Given the description of an element on the screen output the (x, y) to click on. 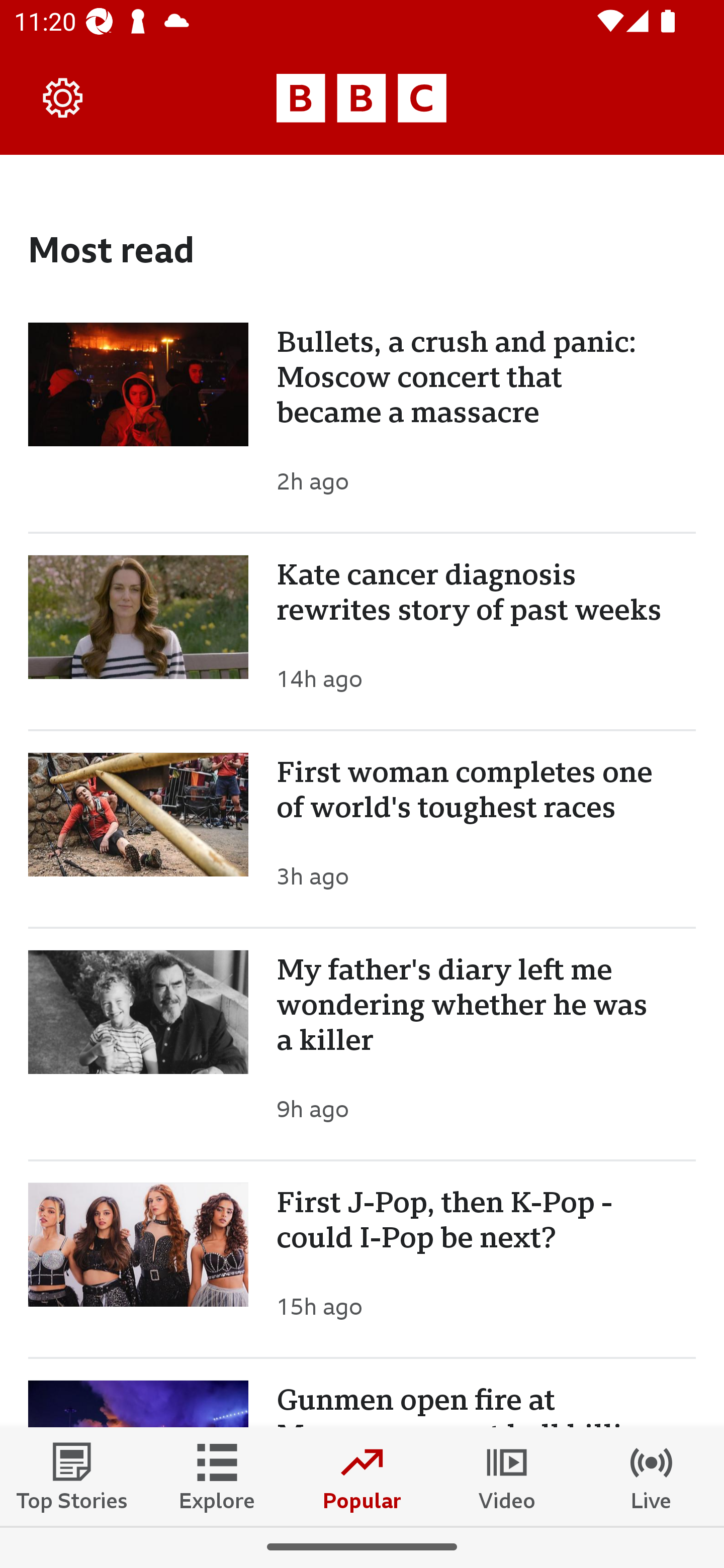
Settings (63, 97)
Top Stories (72, 1475)
Explore (216, 1475)
Video (506, 1475)
Live (651, 1475)
